Given the description of an element on the screen output the (x, y) to click on. 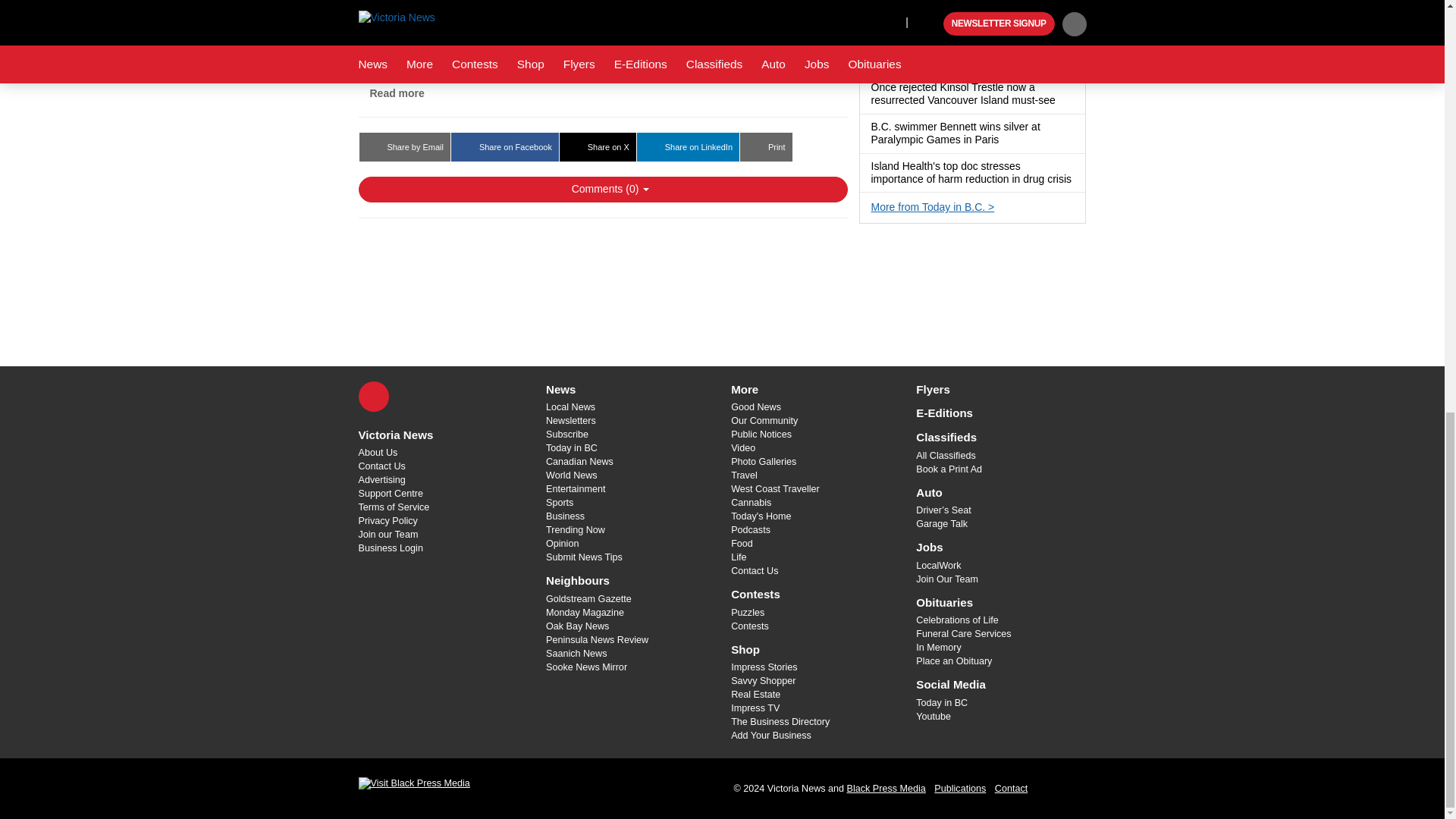
Has a gallery (1064, 101)
X (373, 396)
Show Comments (602, 189)
